Given the description of an element on the screen output the (x, y) to click on. 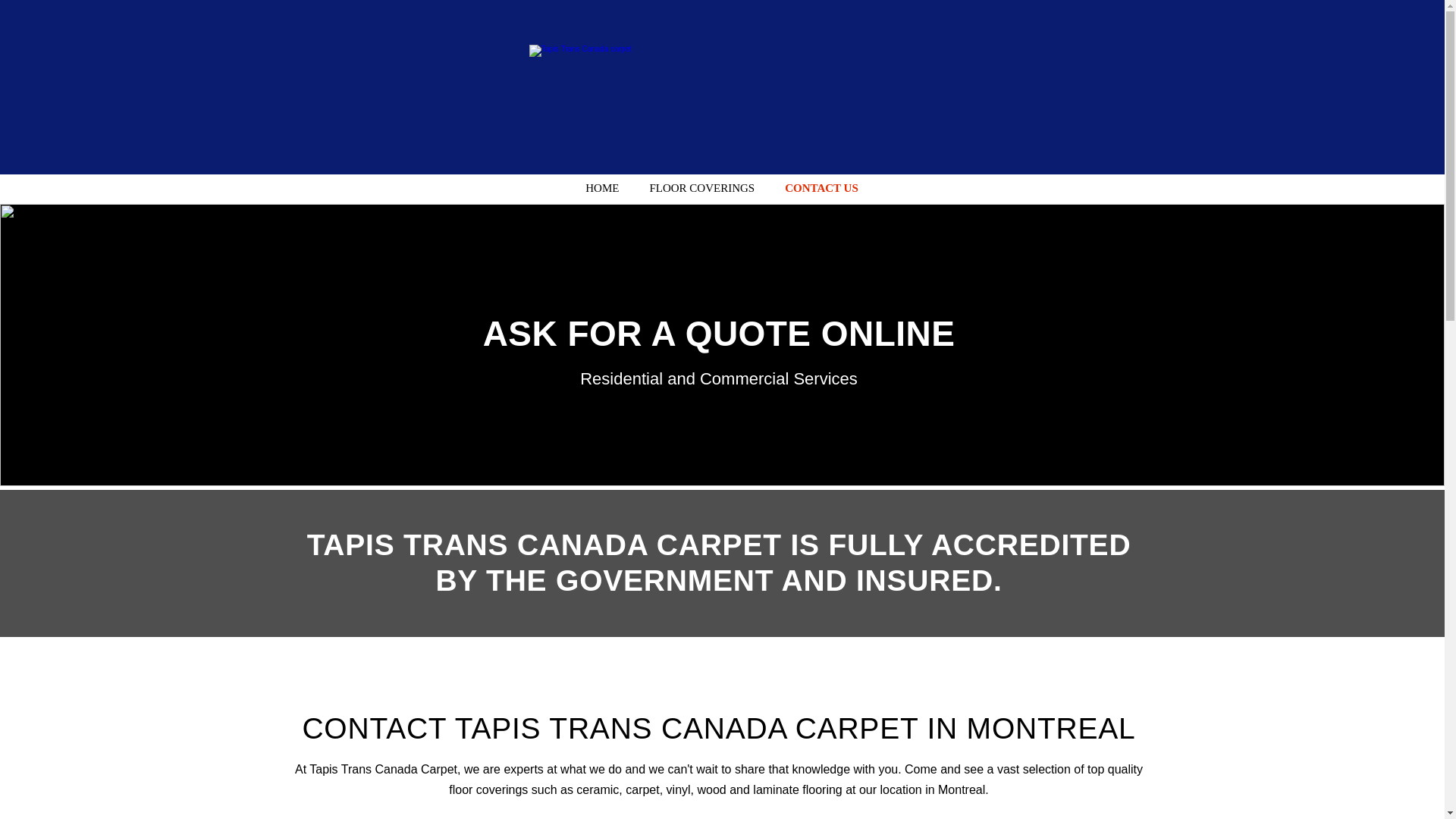
FLOOR COVERINGS (701, 188)
CONTACT US (821, 188)
HOME (601, 188)
